Given the description of an element on the screen output the (x, y) to click on. 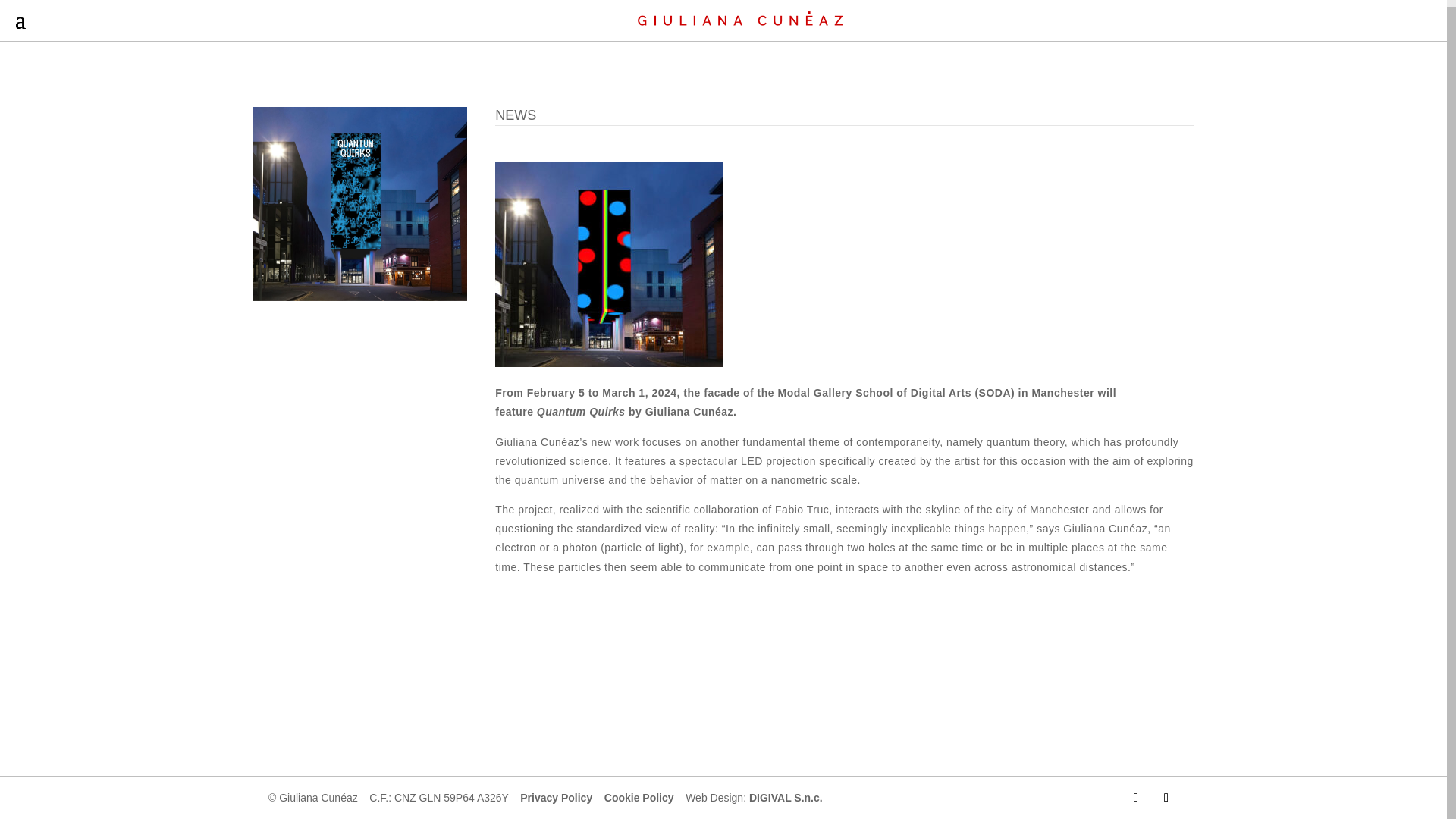
Follow on LinkedIn (1165, 797)
Follow on Instagram (1136, 797)
Privacy Policy (555, 797)
Copertina (360, 204)
Cookie Policy (639, 797)
DIGIVAL S.n.c. (785, 797)
